Given the description of an element on the screen output the (x, y) to click on. 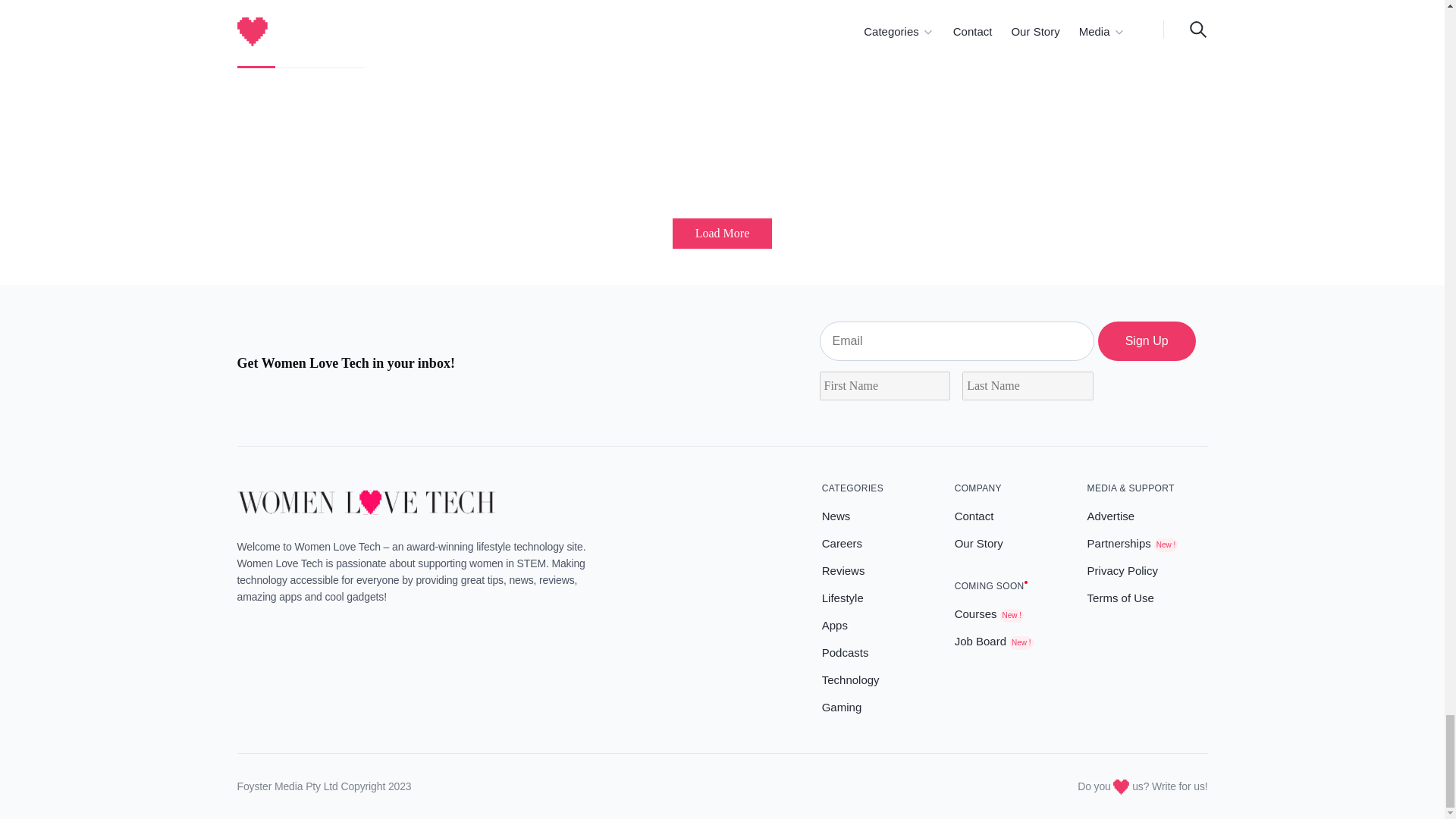
Sign Up (1146, 341)
